Given the description of an element on the screen output the (x, y) to click on. 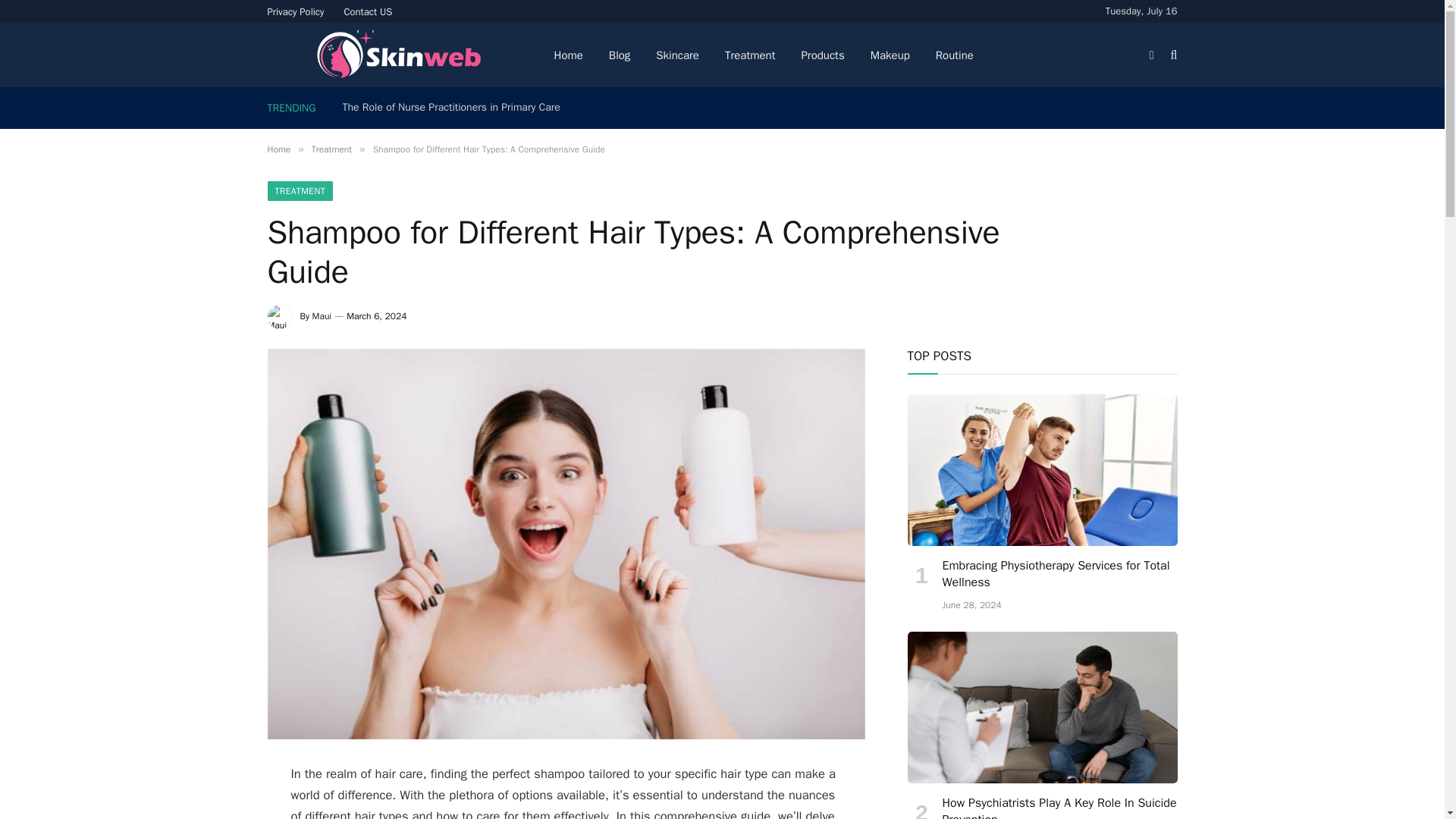
Treatment (750, 54)
Makeup (890, 54)
Maui (322, 316)
Privacy Policy (295, 11)
Skincare (677, 54)
Routine (955, 54)
Products (822, 54)
Home (277, 149)
The Role of Nurse Practitioners in Primary Care (454, 107)
Switch to Dark Design - easier on eyes. (1151, 54)
Skinweb.info (397, 54)
Posts by Maui (322, 316)
TREATMENT (299, 190)
Treatment (331, 149)
